Given the description of an element on the screen output the (x, y) to click on. 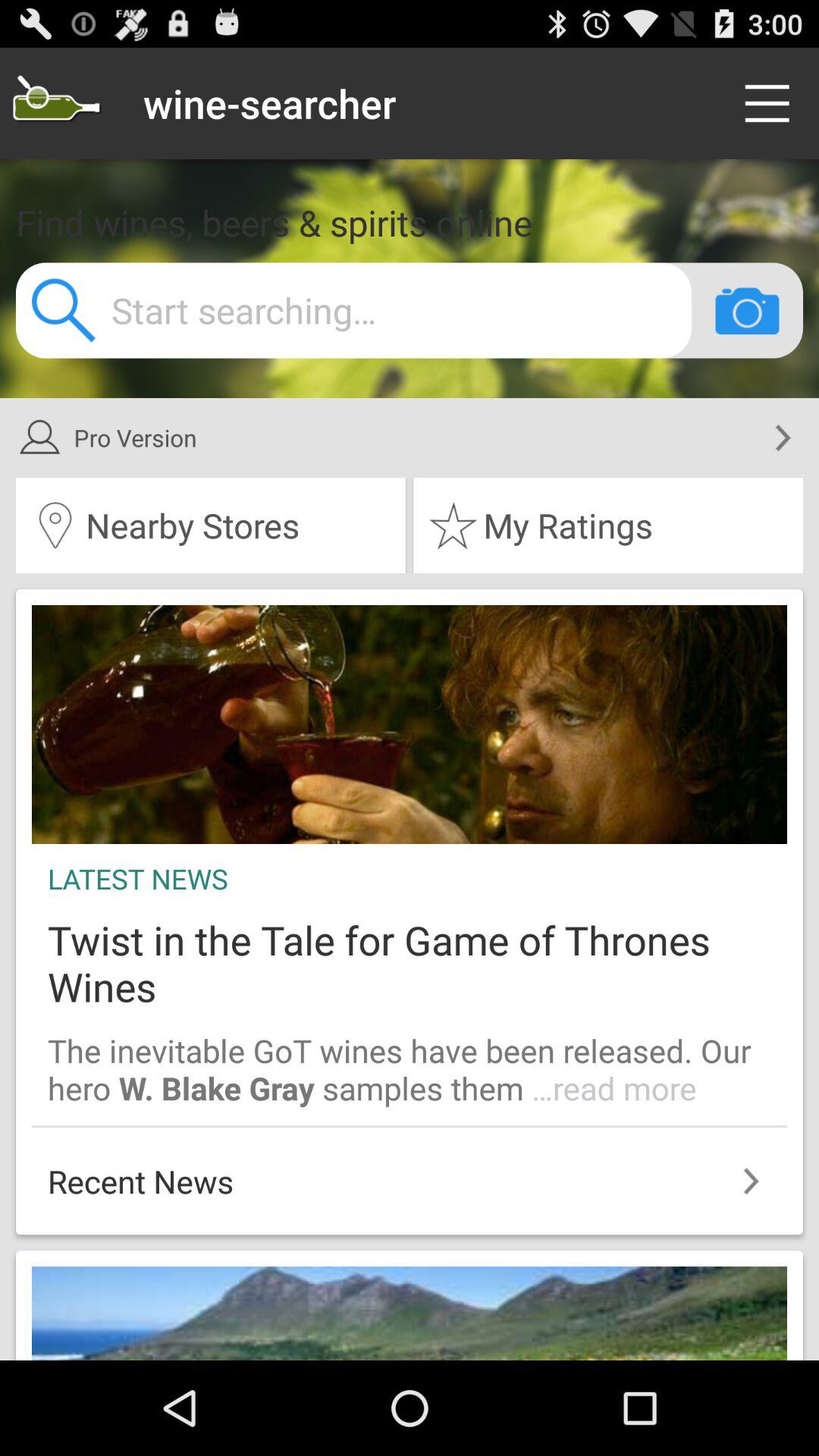
turn on item above the nearby stores item (389, 437)
